Given the description of an element on the screen output the (x, y) to click on. 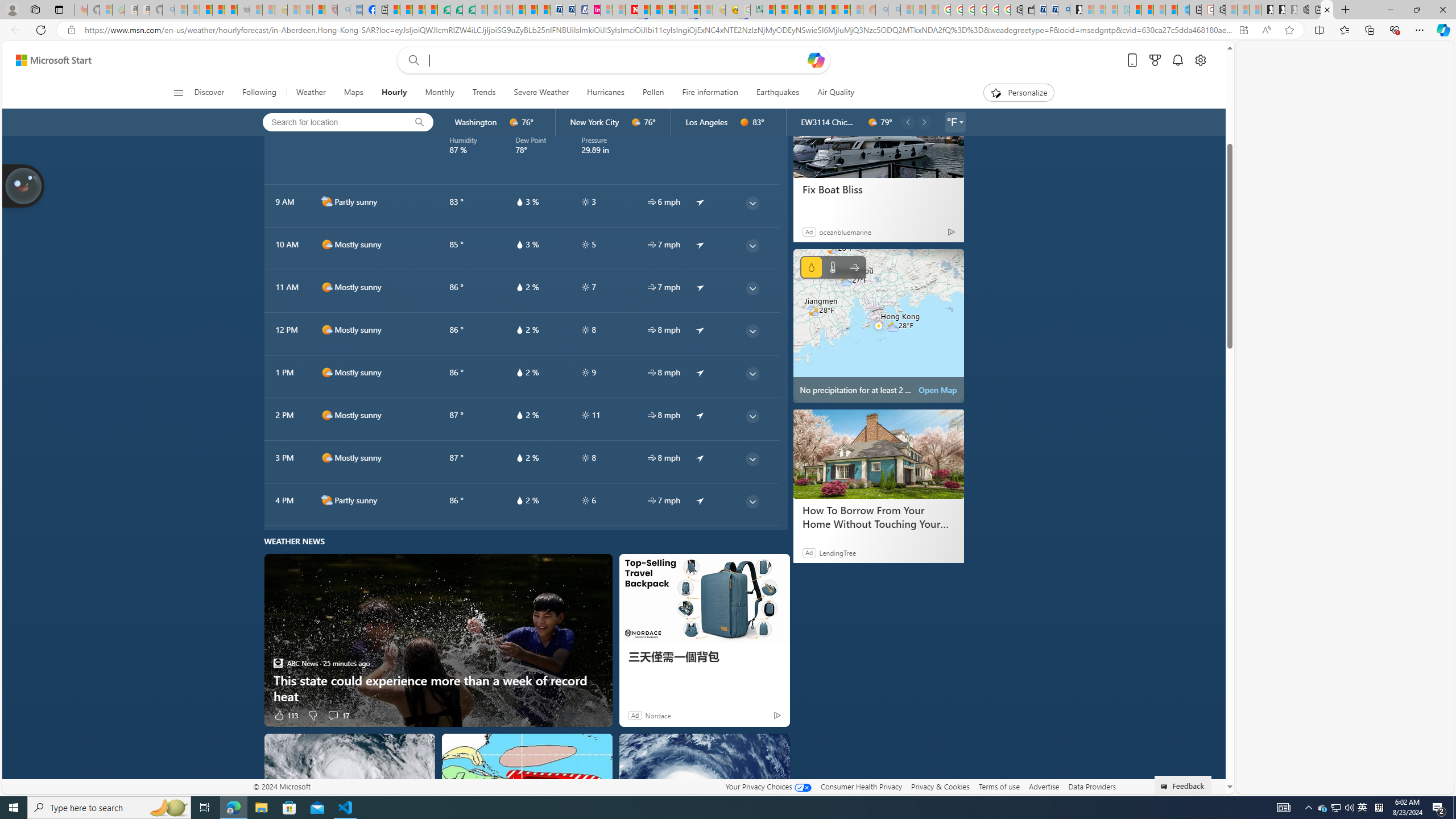
Severe Weather (541, 92)
common/carouselChevron (924, 121)
Hurricanes (605, 92)
Earthquakes (777, 92)
